Given the description of an element on the screen output the (x, y) to click on. 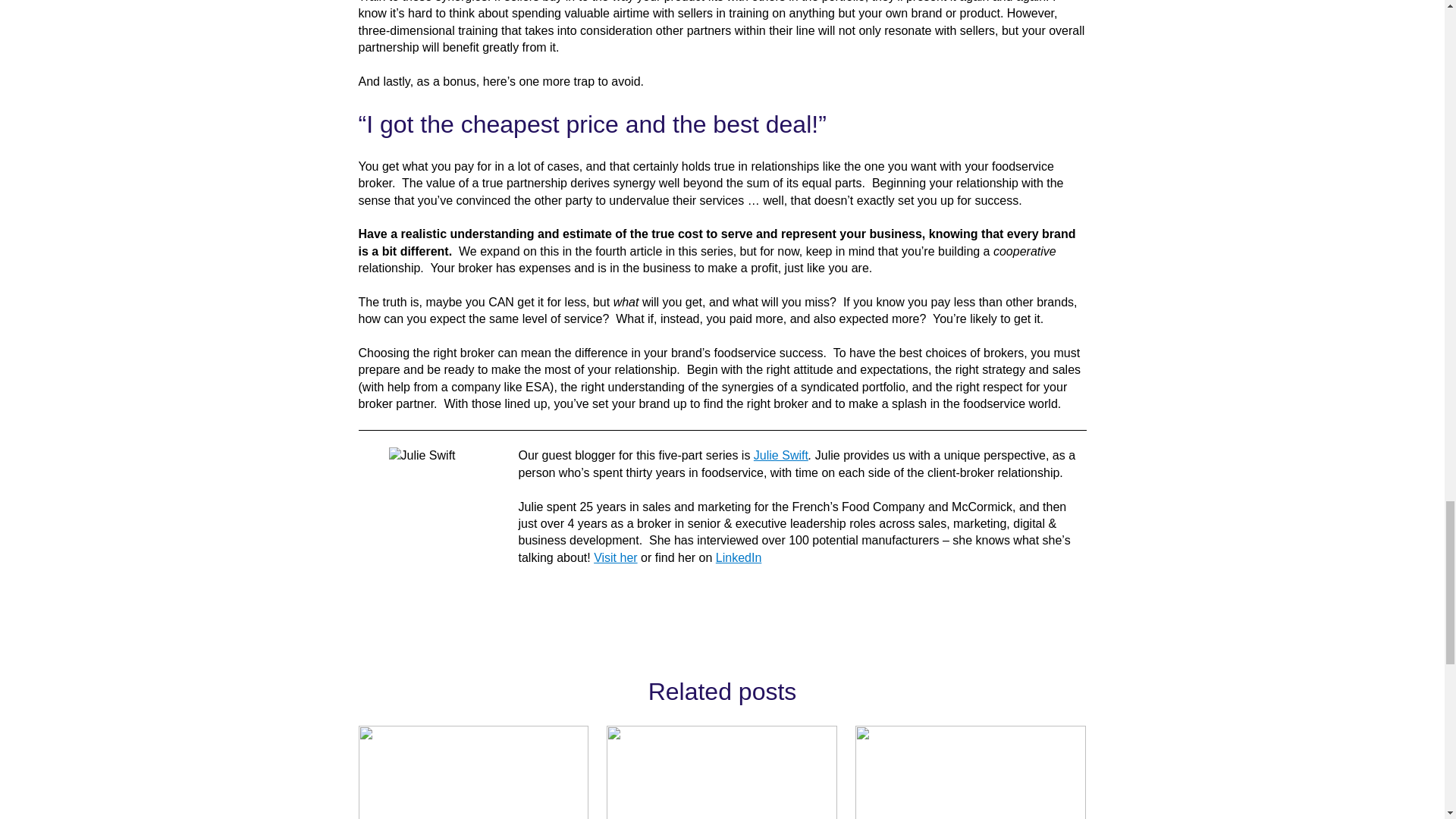
LinkedIn (738, 557)
Visit her (615, 557)
Julie Swift (781, 454)
LinkedIn (738, 557)
